Given the description of an element on the screen output the (x, y) to click on. 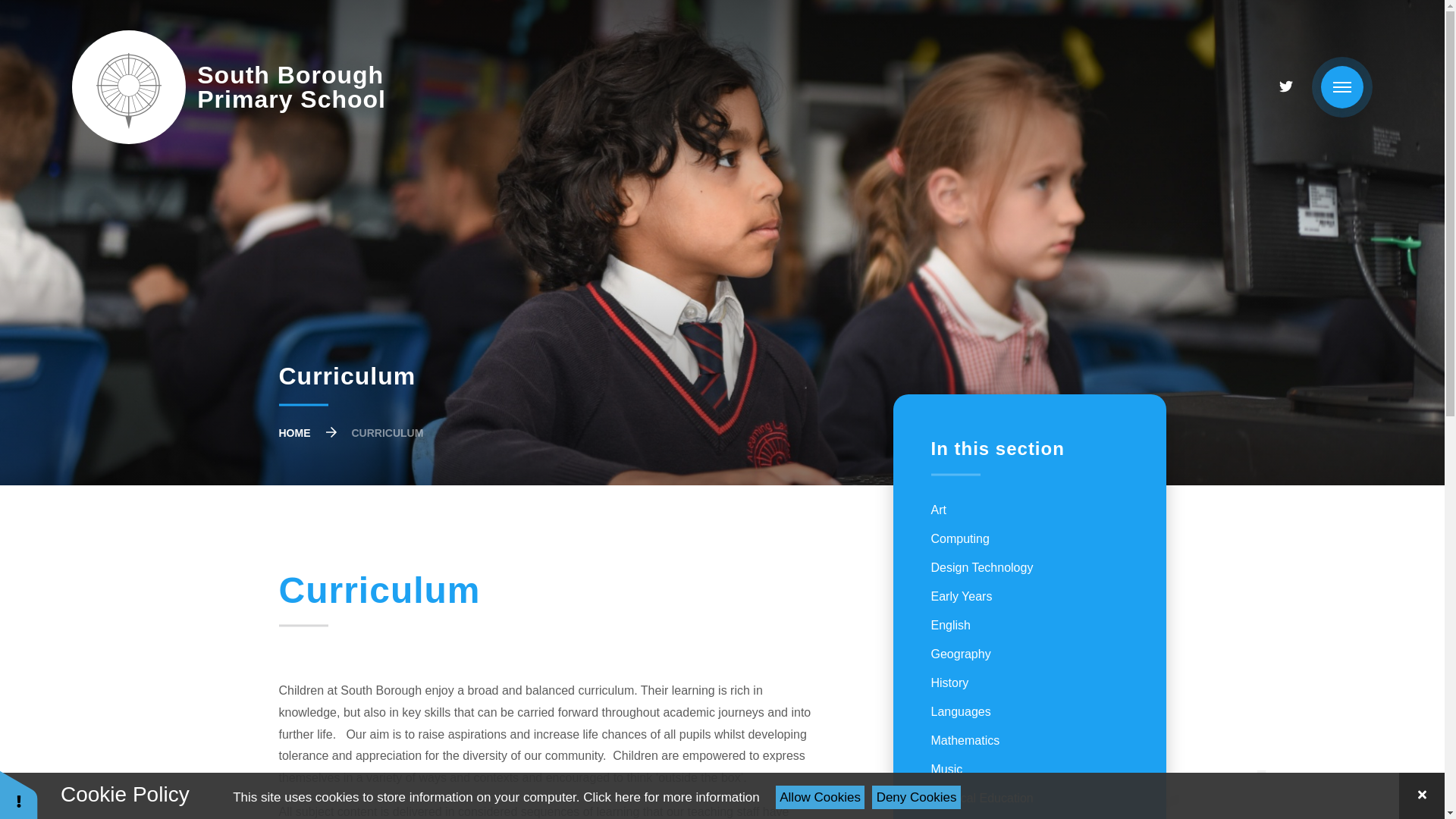
Allow Cookies (228, 87)
See cookie policy (820, 797)
Deny Cookies (670, 797)
